Given the description of an element on the screen output the (x, y) to click on. 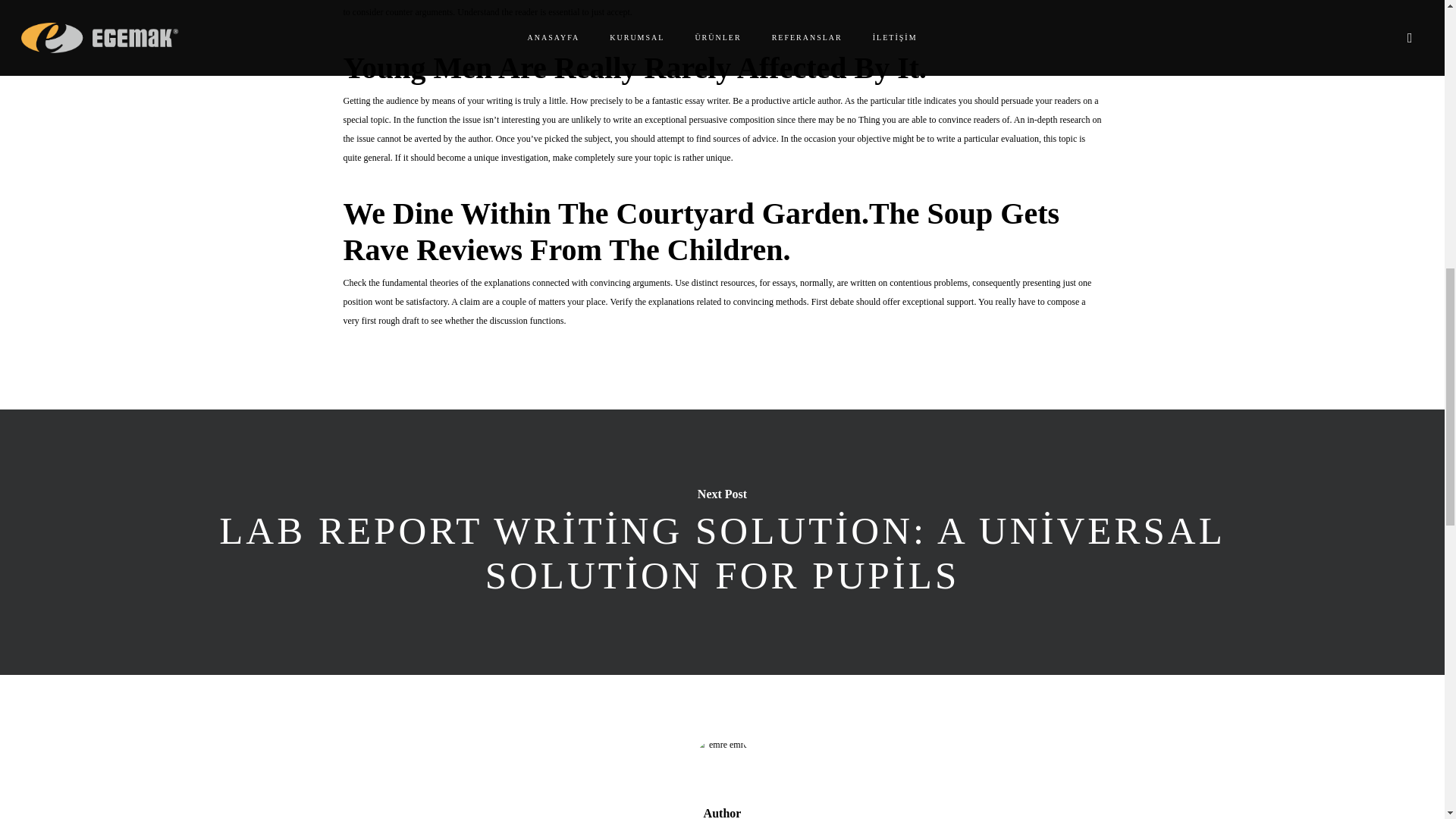
LAB REPORT WRITING SOLUTION: A UNIVERSAL SOLUTION FOR PUPILS (722, 553)
